Given the description of an element on the screen output the (x, y) to click on. 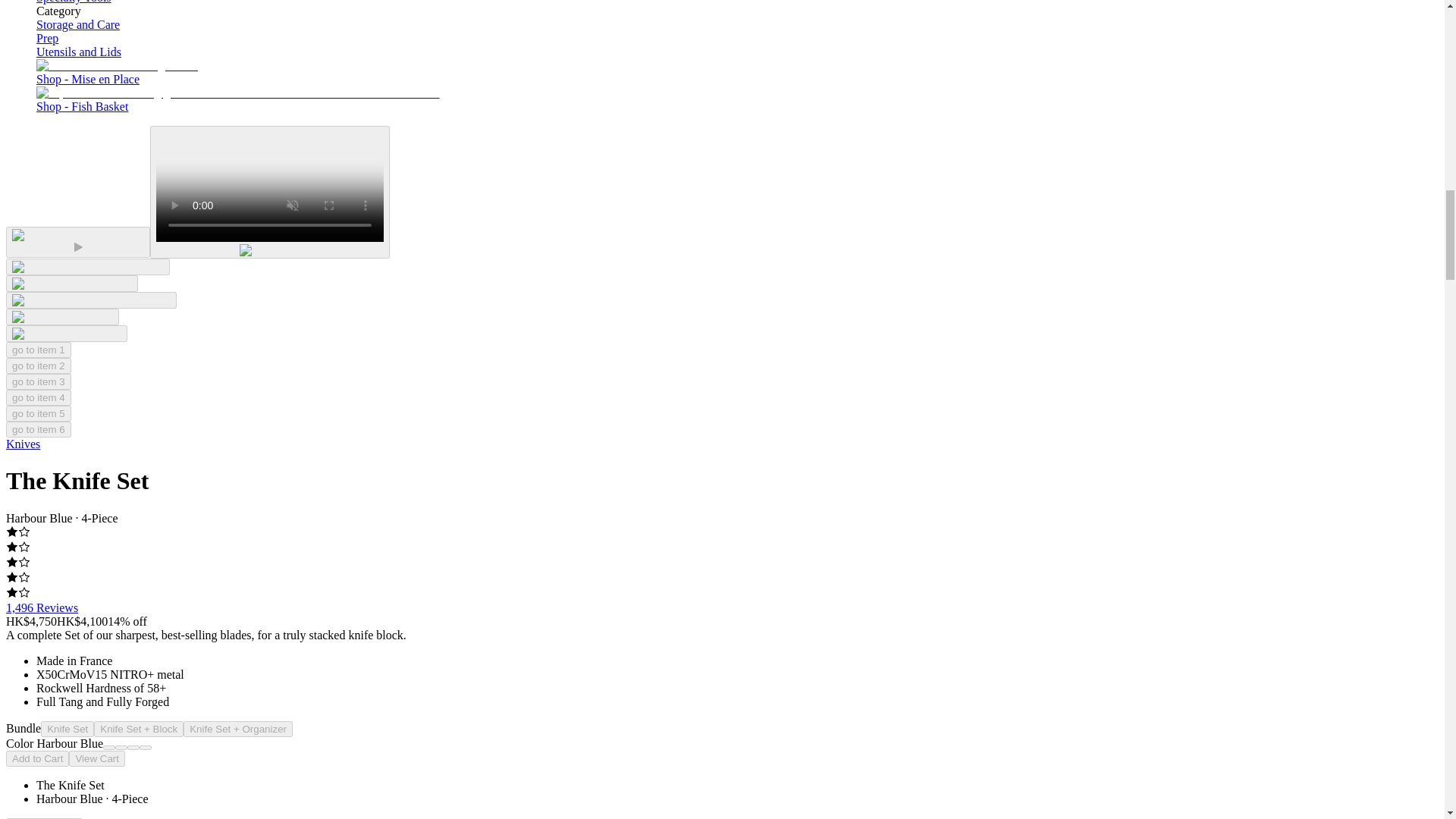
Truffle Black (133, 747)
Pomme Red (121, 747)
Olive Wood (145, 747)
Harbour Blue (109, 747)
Knife Set (67, 729)
View Cart (96, 758)
